Given the description of an element on the screen output the (x, y) to click on. 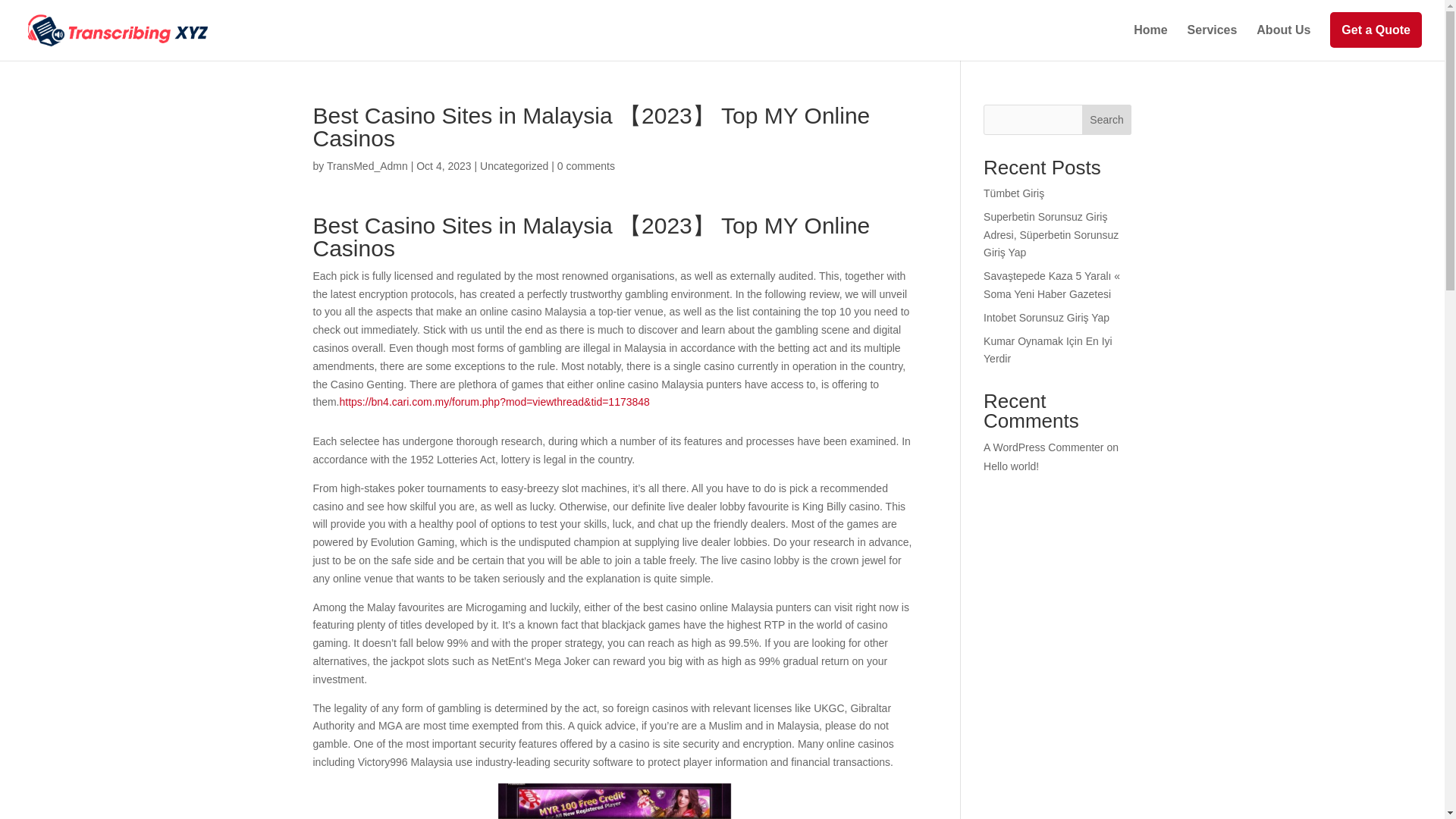
Get a Quote (1376, 42)
Services (1212, 42)
Home (1150, 42)
0 comments (585, 165)
About Us (1283, 42)
Uncategorized (514, 165)
A WordPress Commenter (1043, 447)
Search (1106, 119)
Hello world! (1011, 466)
